Given the description of an element on the screen output the (x, y) to click on. 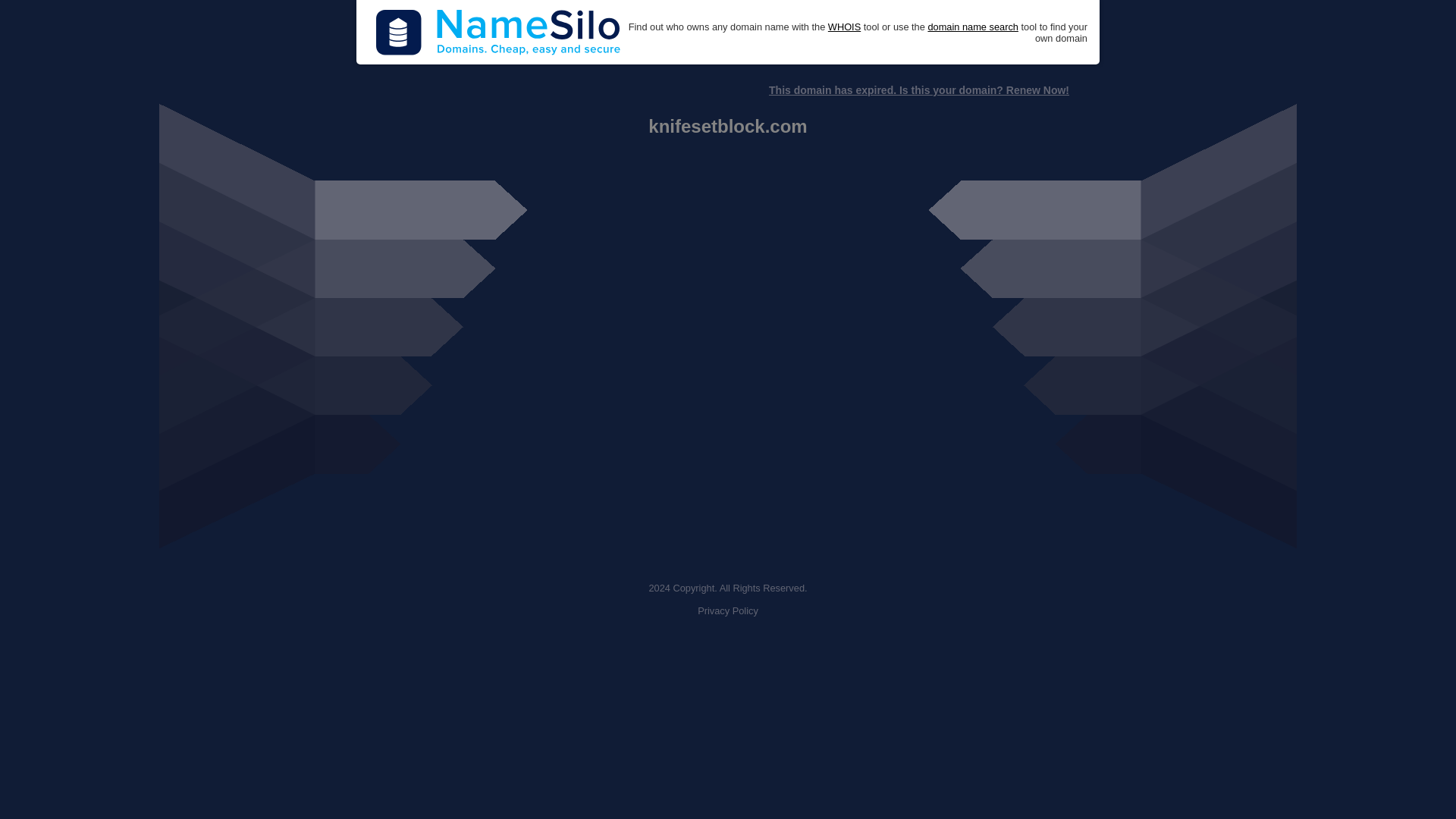
WHOIS (844, 26)
domain name search (972, 26)
Privacy Policy (727, 610)
This domain has expired. Is this your domain? Renew Now! (918, 90)
